Given the description of an element on the screen output the (x, y) to click on. 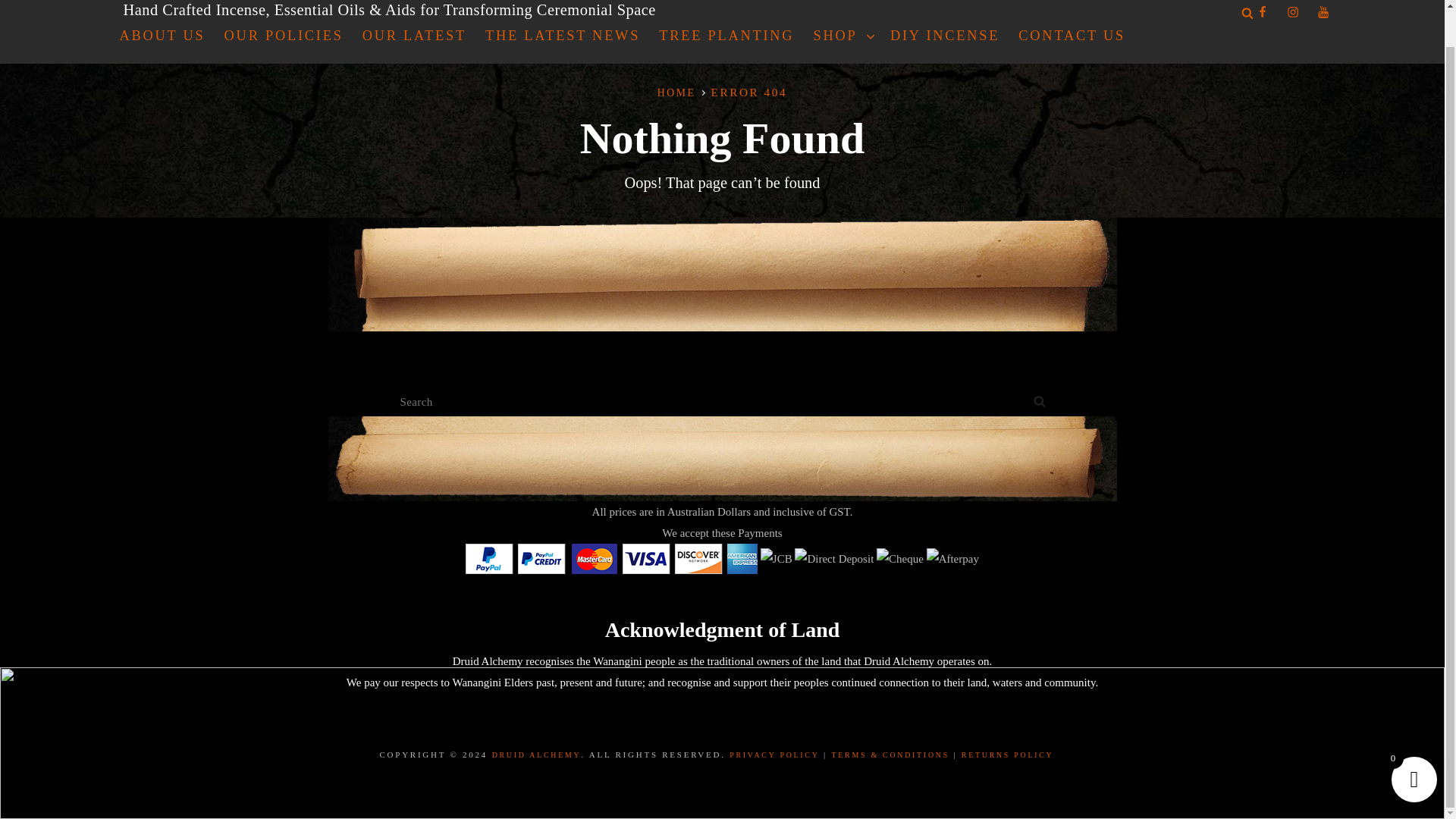
THE LATEST NEWS (562, 36)
OUR POLICIES (283, 36)
DIY INCENSE (944, 36)
ABOUT US (162, 36)
Afterpay (952, 558)
SHOP (841, 36)
OUR LATEST (414, 36)
TREE PLANTING (726, 36)
Search (1038, 401)
DRUID ALCHEMY (536, 755)
